Given the description of an element on the screen output the (x, y) to click on. 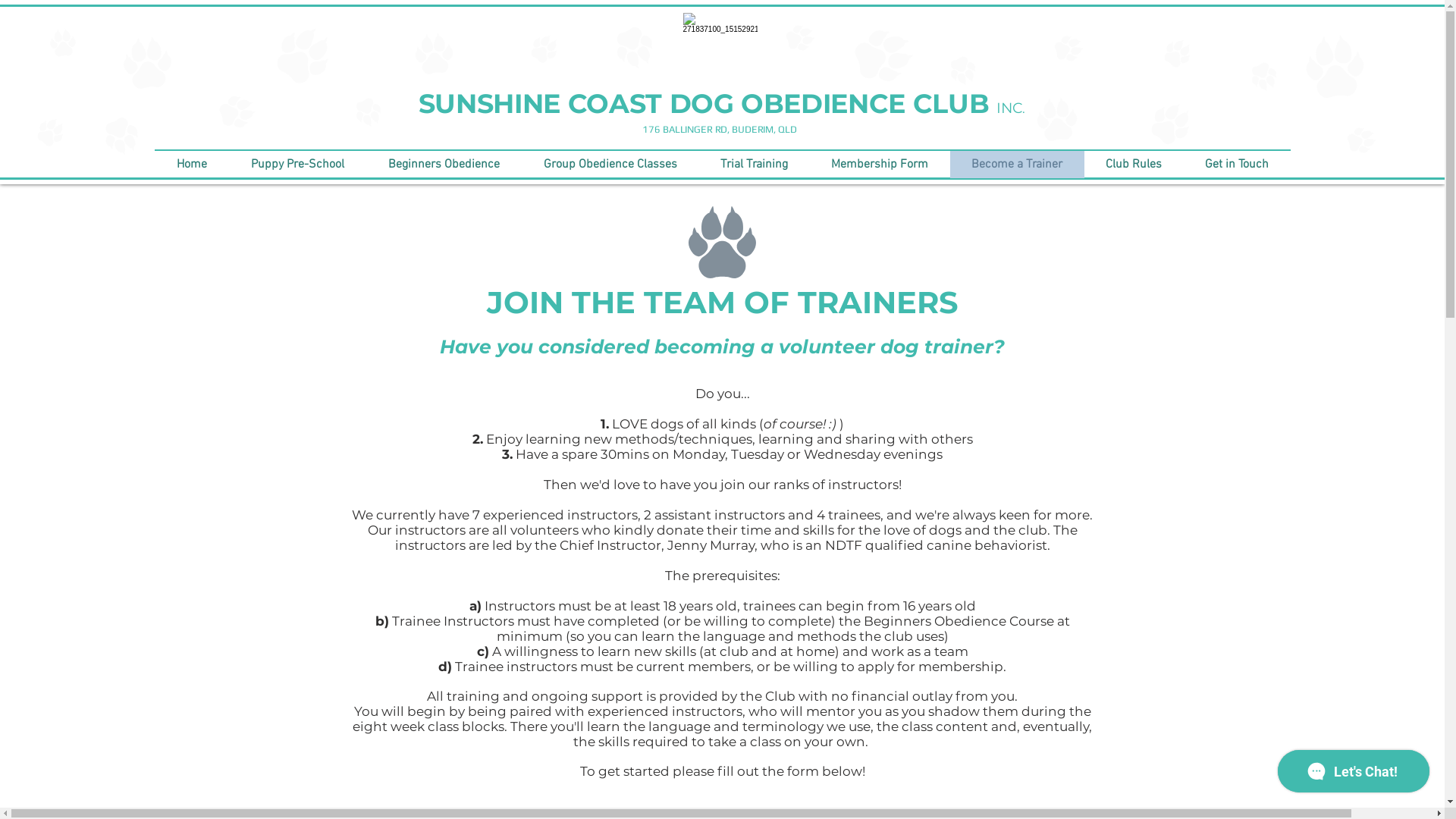
Puppy Pre-School Element type: text (297, 164)
Become a Trainer Element type: text (1016, 164)
Group Obedience Classes Element type: text (610, 164)
Beginners Obedience Element type: text (442, 164)
Wix Chat Element type: hover (1357, 774)
Trial Training Element type: text (754, 164)
Club Rules Element type: text (1133, 164)
Membership Form Element type: text (879, 164)
Get in Touch Element type: text (1236, 164)
Home Element type: text (191, 164)
